Given the description of an element on the screen output the (x, y) to click on. 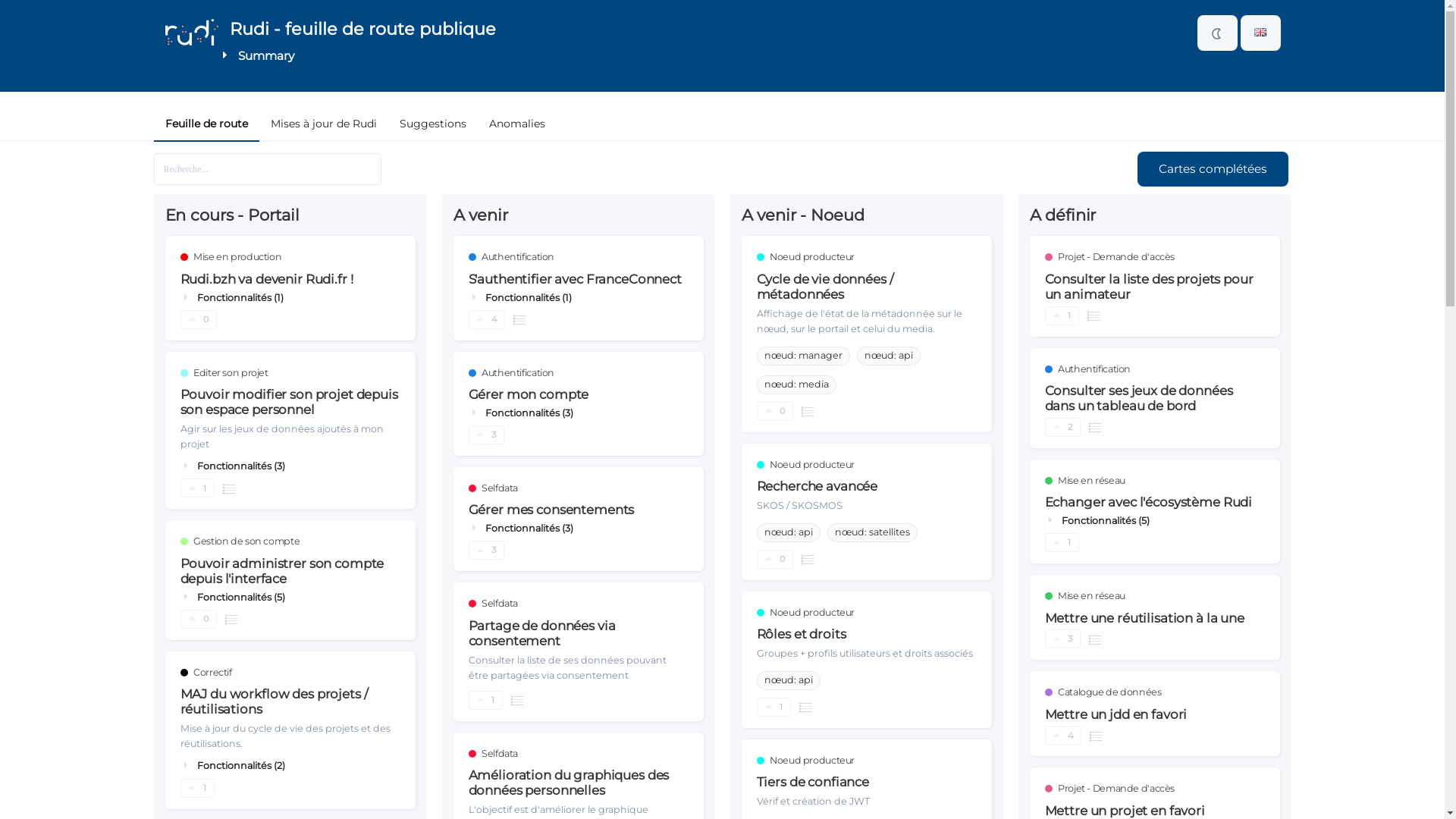
More details Element type: hover (1094, 427)
4 Element type: text (1062, 734)
More details Element type: hover (1094, 638)
2 Element type: text (1062, 426)
3 Element type: text (486, 549)
0 Element type: text (774, 558)
1 Element type: text (197, 487)
More details Element type: hover (517, 700)
0 Element type: text (774, 410)
More details Element type: hover (519, 319)
More details Element type: hover (1093, 315)
0 Element type: text (198, 319)
More details Element type: hover (807, 559)
More details Element type: hover (228, 487)
More details Element type: hover (805, 707)
1 Element type: text (1061, 542)
4 Element type: text (486, 319)
More details Element type: hover (231, 619)
1 Element type: text (197, 787)
1 Element type: text (485, 699)
0 Element type: text (198, 618)
3 Element type: text (486, 434)
More details Element type: hover (1095, 735)
1 Element type: text (773, 706)
More details Element type: hover (807, 411)
3 Element type: text (1062, 638)
1 Element type: text (1061, 315)
